Given the description of an element on the screen output the (x, y) to click on. 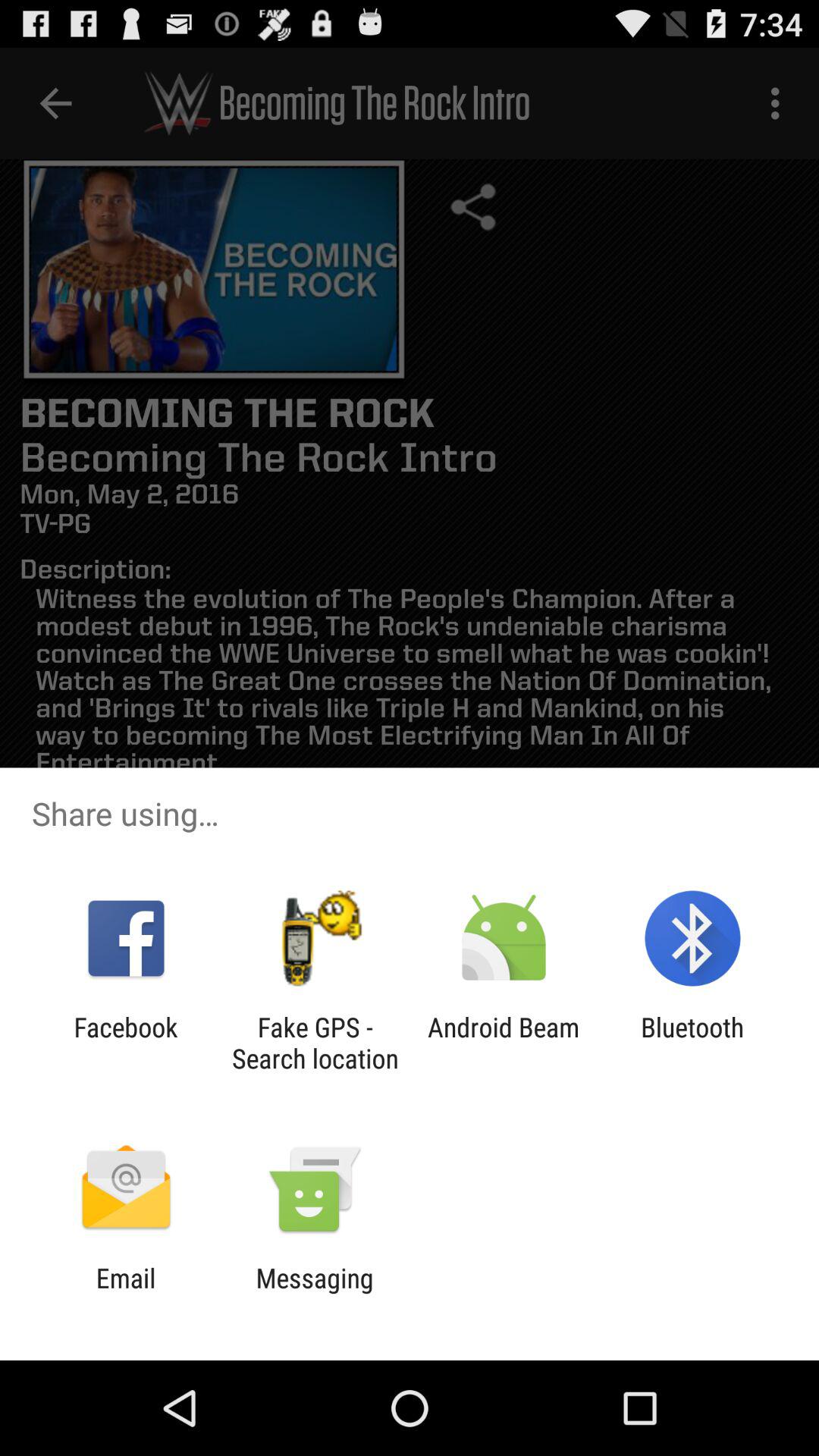
select the android beam app (503, 1042)
